Given the description of an element on the screen output the (x, y) to click on. 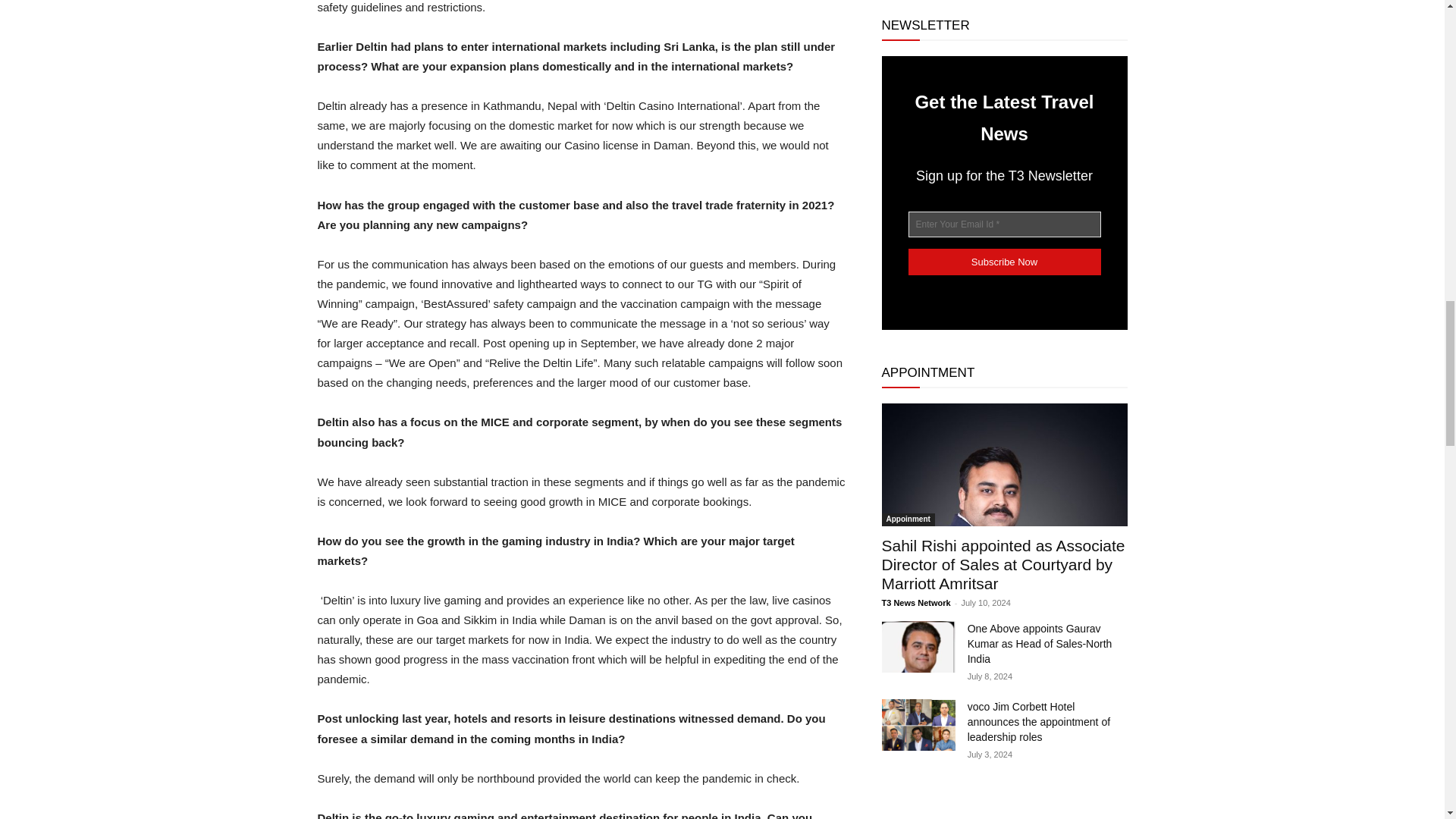
Subscribe Now (1004, 261)
